Given the description of an element on the screen output the (x, y) to click on. 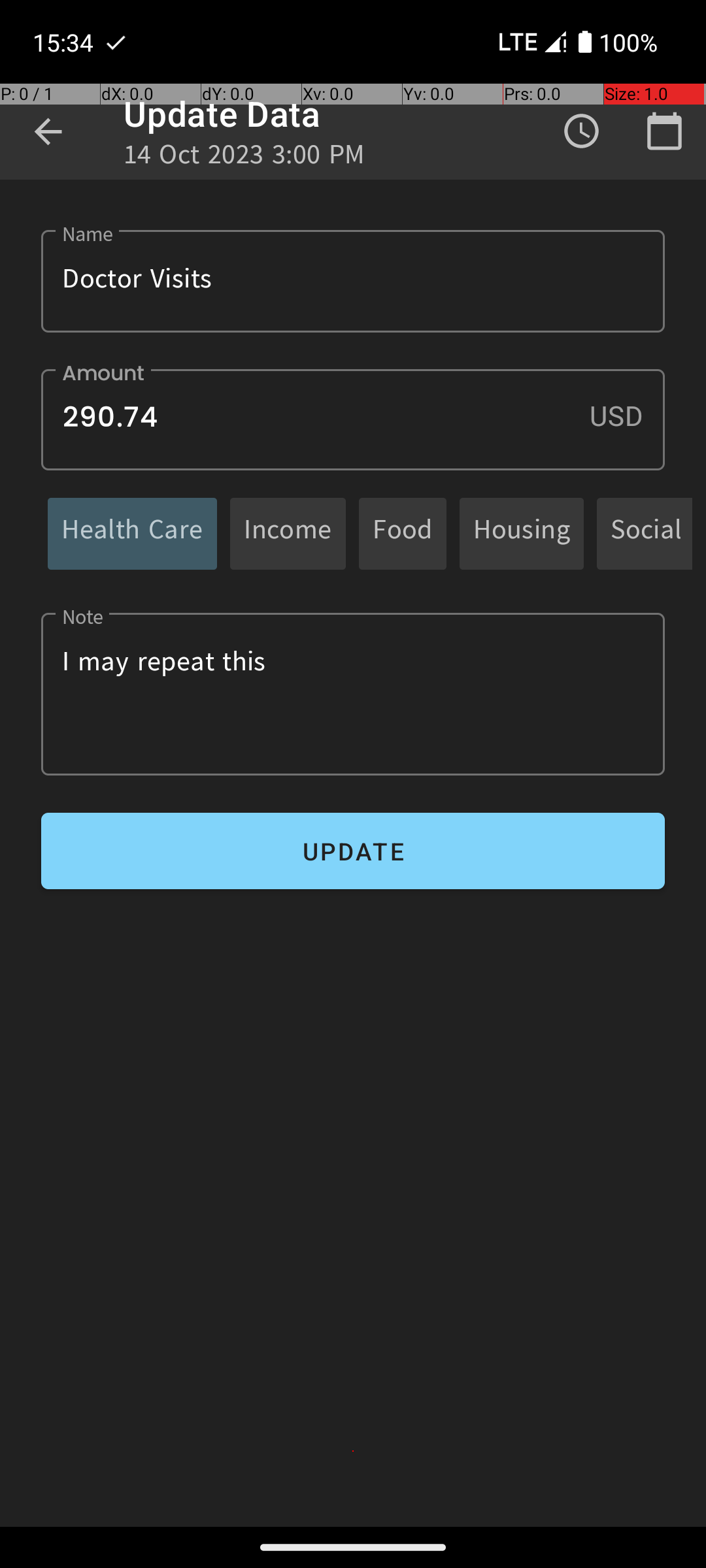
14 Oct 2023 3:00 PM Element type: android.widget.TextView (244, 157)
290.74 Element type: android.widget.EditText (352, 419)
Health Care Element type: android.widget.TextView (132, 533)
